Given the description of an element on the screen output the (x, y) to click on. 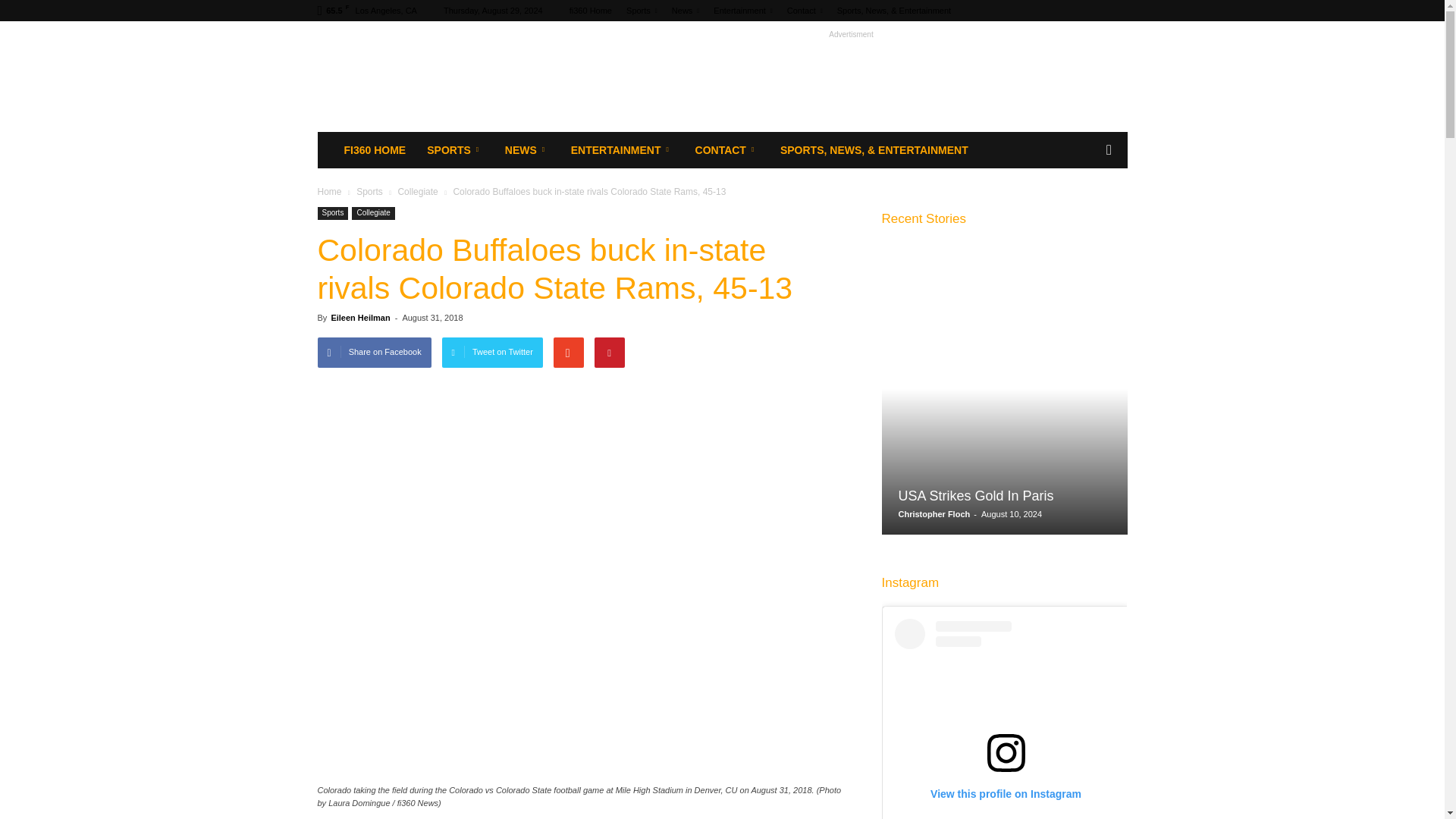
Advertisement (850, 76)
View all posts in Sports (370, 191)
News (684, 10)
Contact (804, 10)
Sports (642, 10)
Entertainment (742, 10)
fi360 Home (590, 10)
View all posts in Collegiate (419, 191)
